Given the description of an element on the screen output the (x, y) to click on. 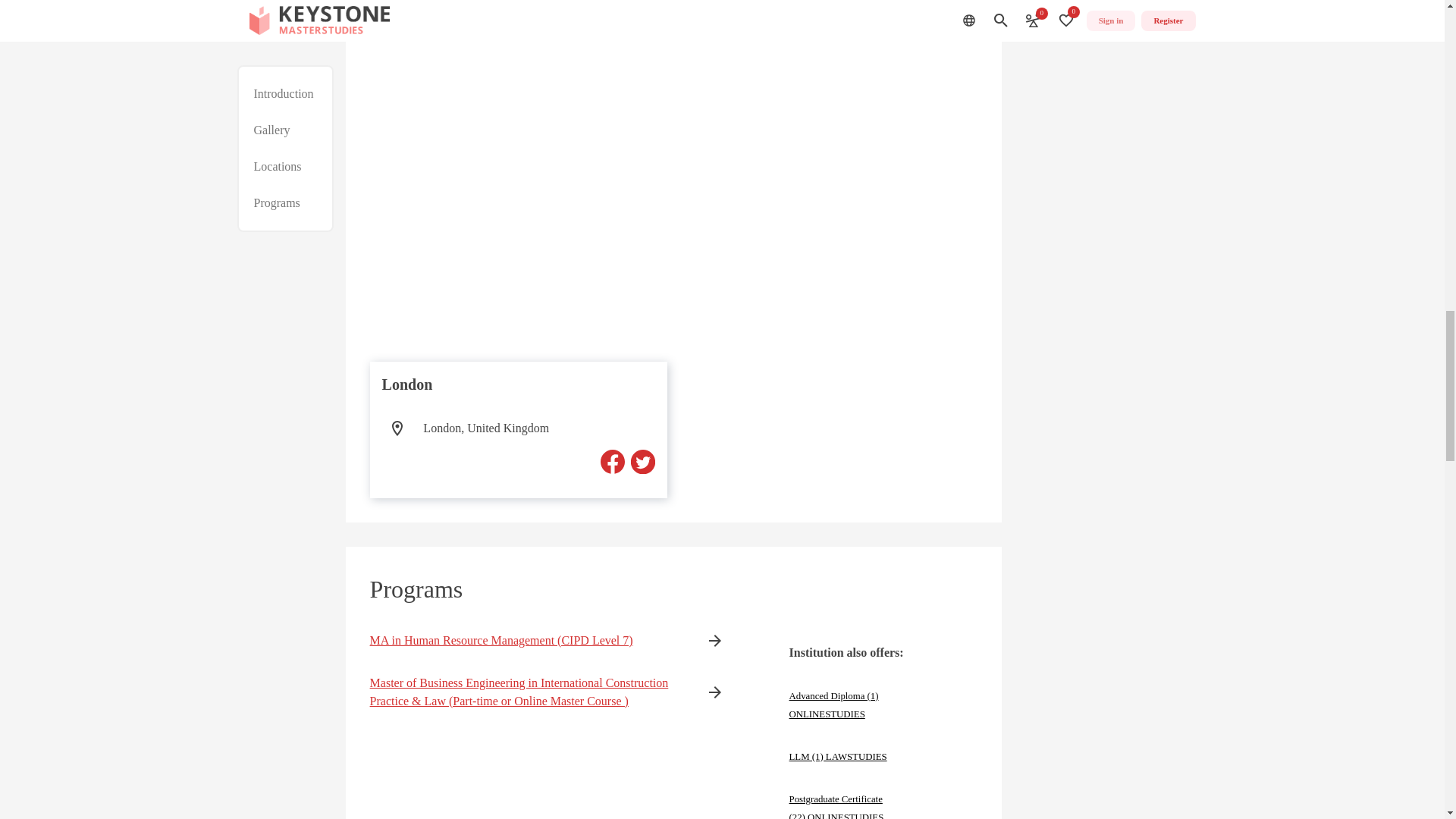
twitter (642, 461)
facebook (611, 461)
